Given the description of an element on the screen output the (x, y) to click on. 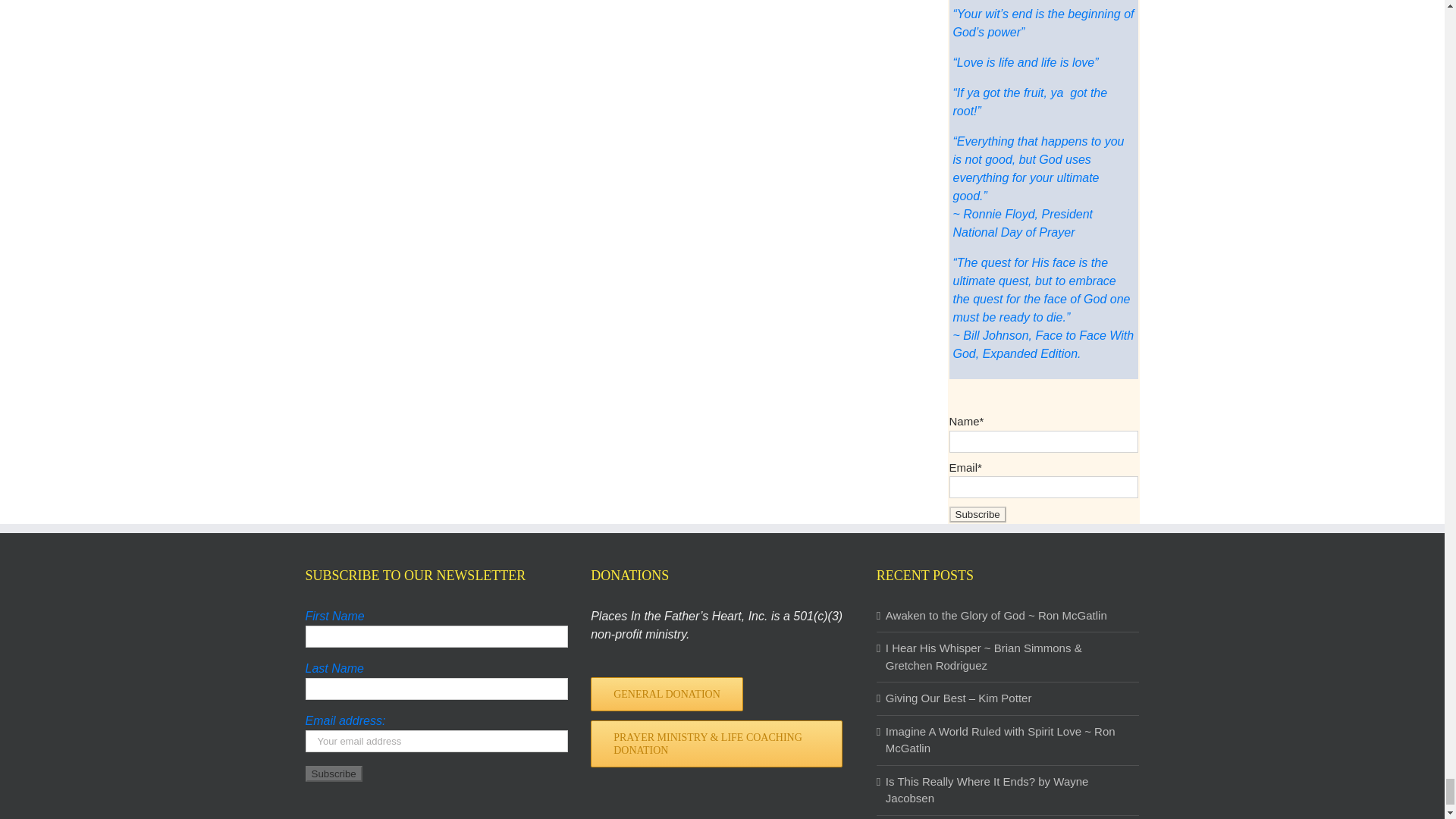
Subscribe (977, 514)
Subscribe (332, 773)
Subscribe (332, 773)
Subscribe (977, 514)
